Given the description of an element on the screen output the (x, y) to click on. 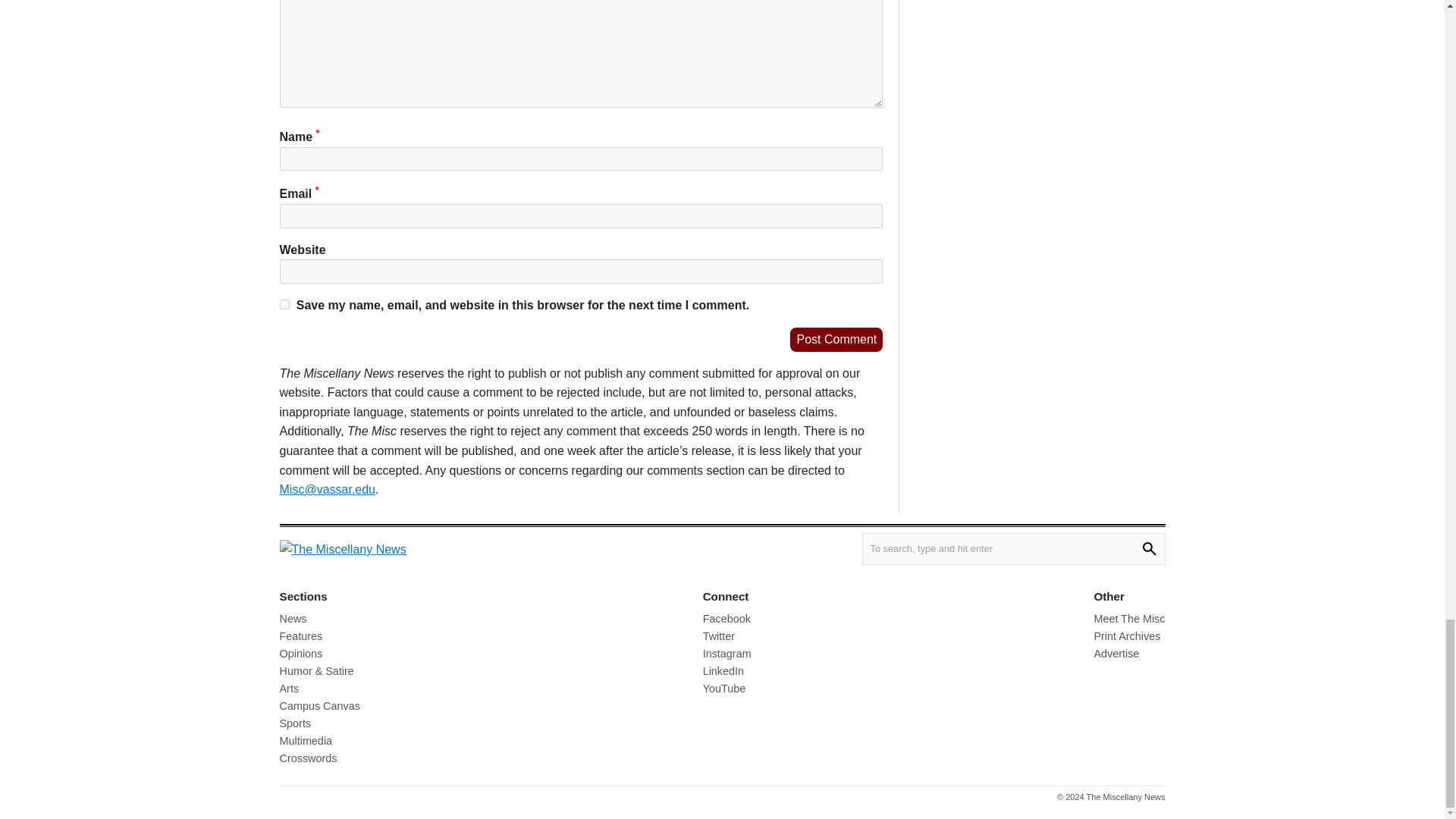
Post Comment (836, 339)
yes (283, 304)
News (292, 618)
Post Comment (836, 339)
